Given the description of an element on the screen output the (x, y) to click on. 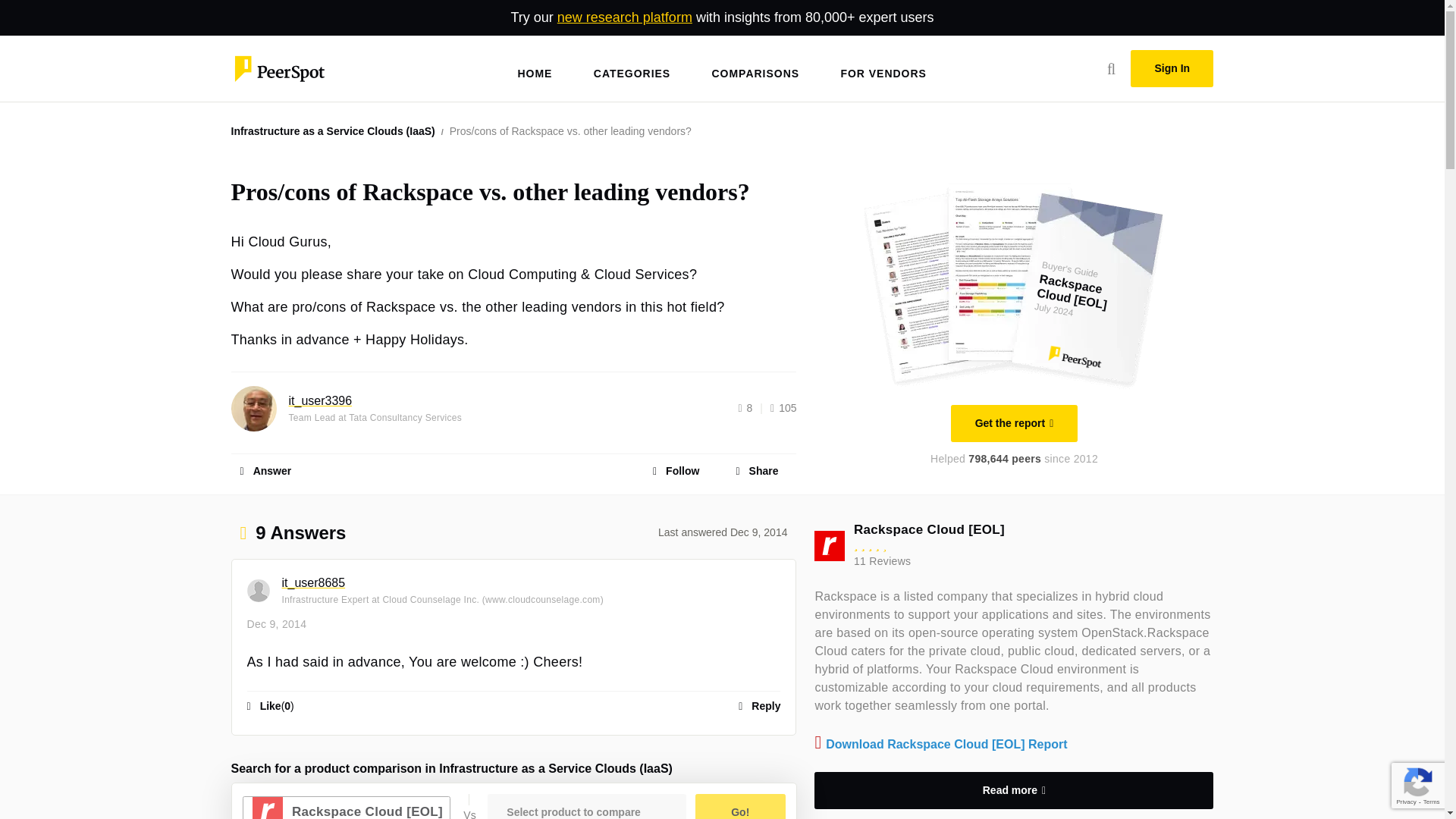
Follow this post (675, 470)
new research platform (625, 17)
CATEGORIES (632, 61)
Unbiased reviews from the tech community (278, 67)
HOME (534, 61)
